Given the description of an element on the screen output the (x, y) to click on. 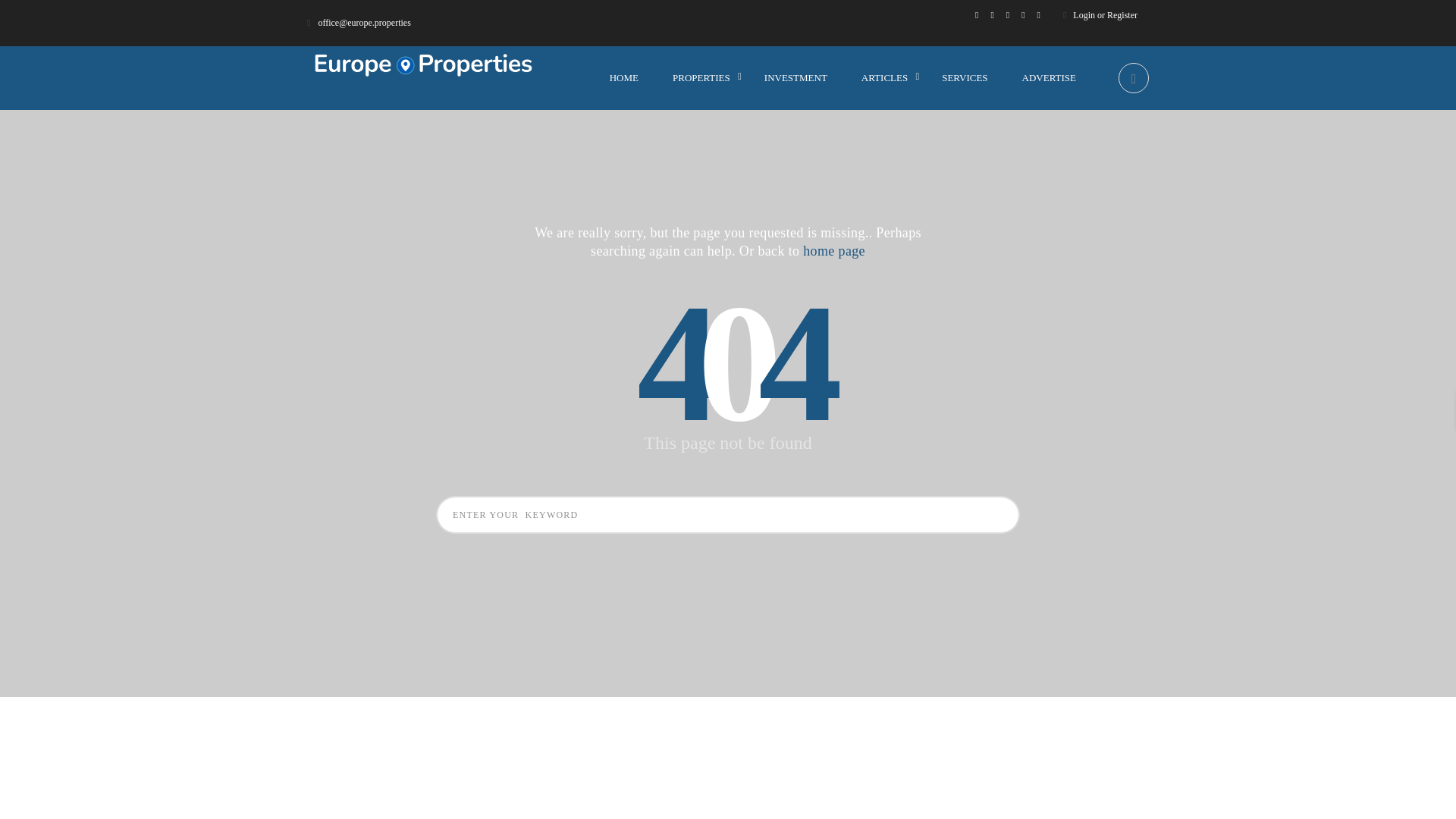
INVESTMENT (795, 77)
Login or Register (1105, 14)
HOME (624, 77)
ADVERTISE (1048, 77)
ARTICLES (884, 77)
SERVICES (964, 77)
PROPERTIES (701, 77)
